Given the description of an element on the screen output the (x, y) to click on. 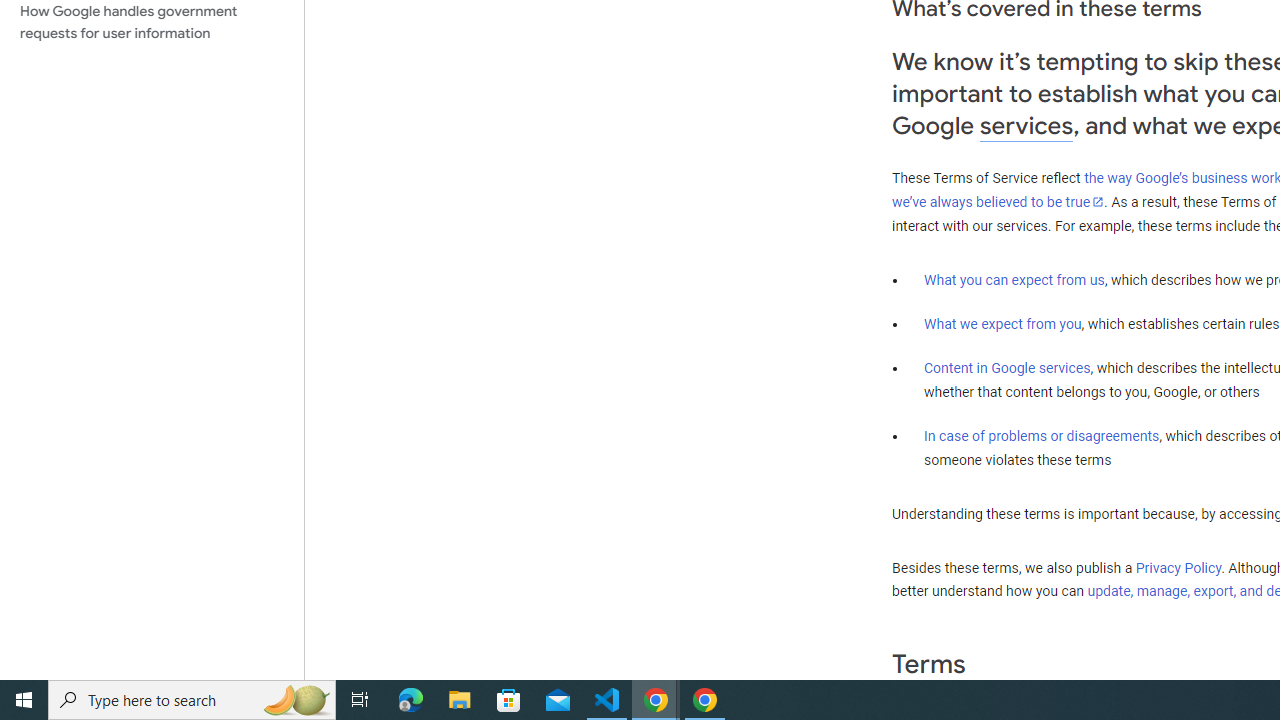
In case of problems or disagreements (1041, 435)
Content in Google services (1007, 368)
What we expect from you (1002, 323)
What you can expect from us (1014, 279)
services (1026, 125)
